Given the description of an element on the screen output the (x, y) to click on. 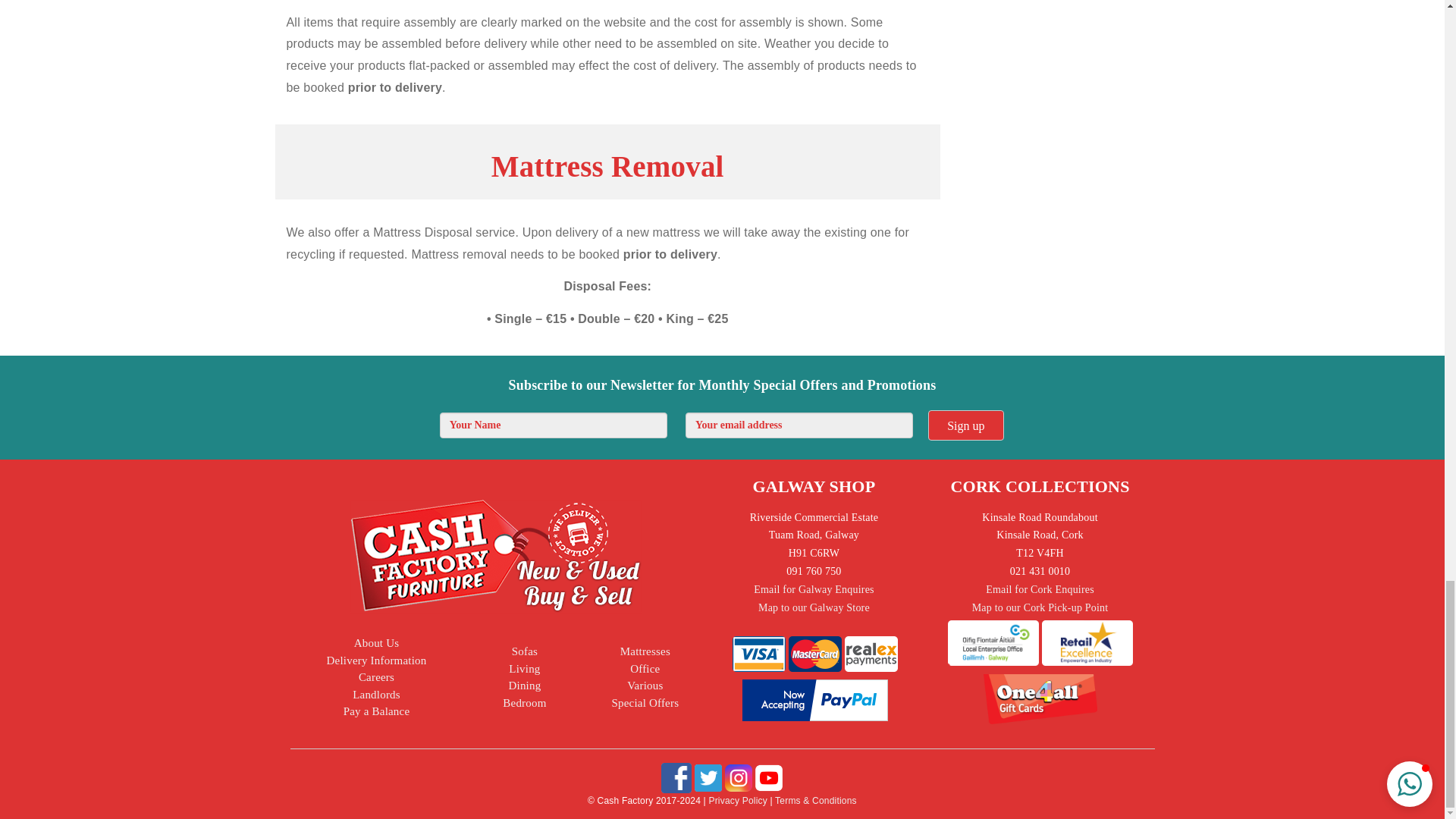
How PayPal Works (815, 698)
Sign up (966, 425)
